Given the description of an element on the screen output the (x, y) to click on. 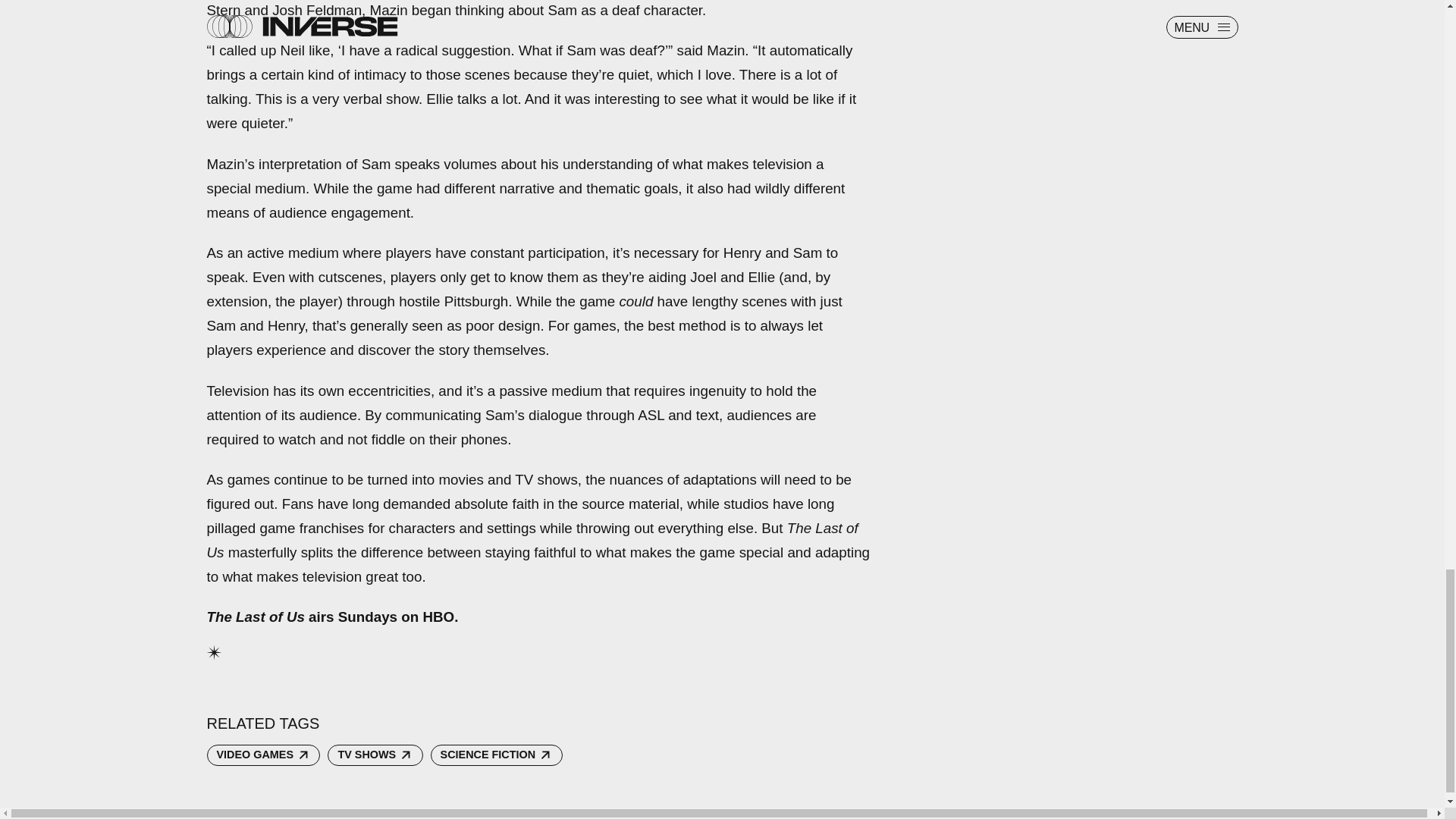
VIDEO GAMES (263, 754)
TV SHOWS (374, 754)
SCIENCE FICTION (496, 754)
